Given the description of an element on the screen output the (x, y) to click on. 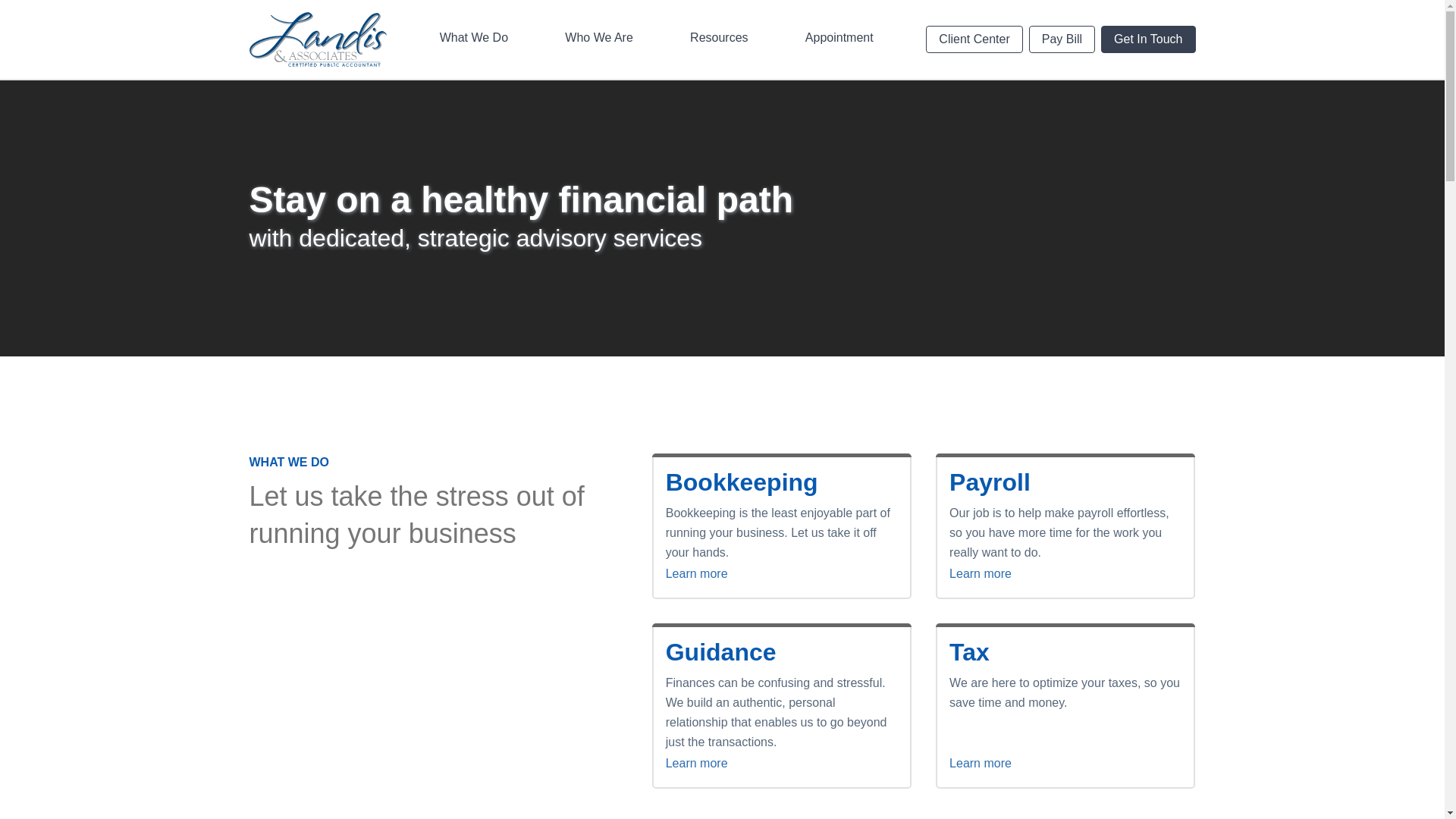
Who We Are (599, 38)
Resources (719, 38)
What We Do (473, 38)
